Given the description of an element on the screen output the (x, y) to click on. 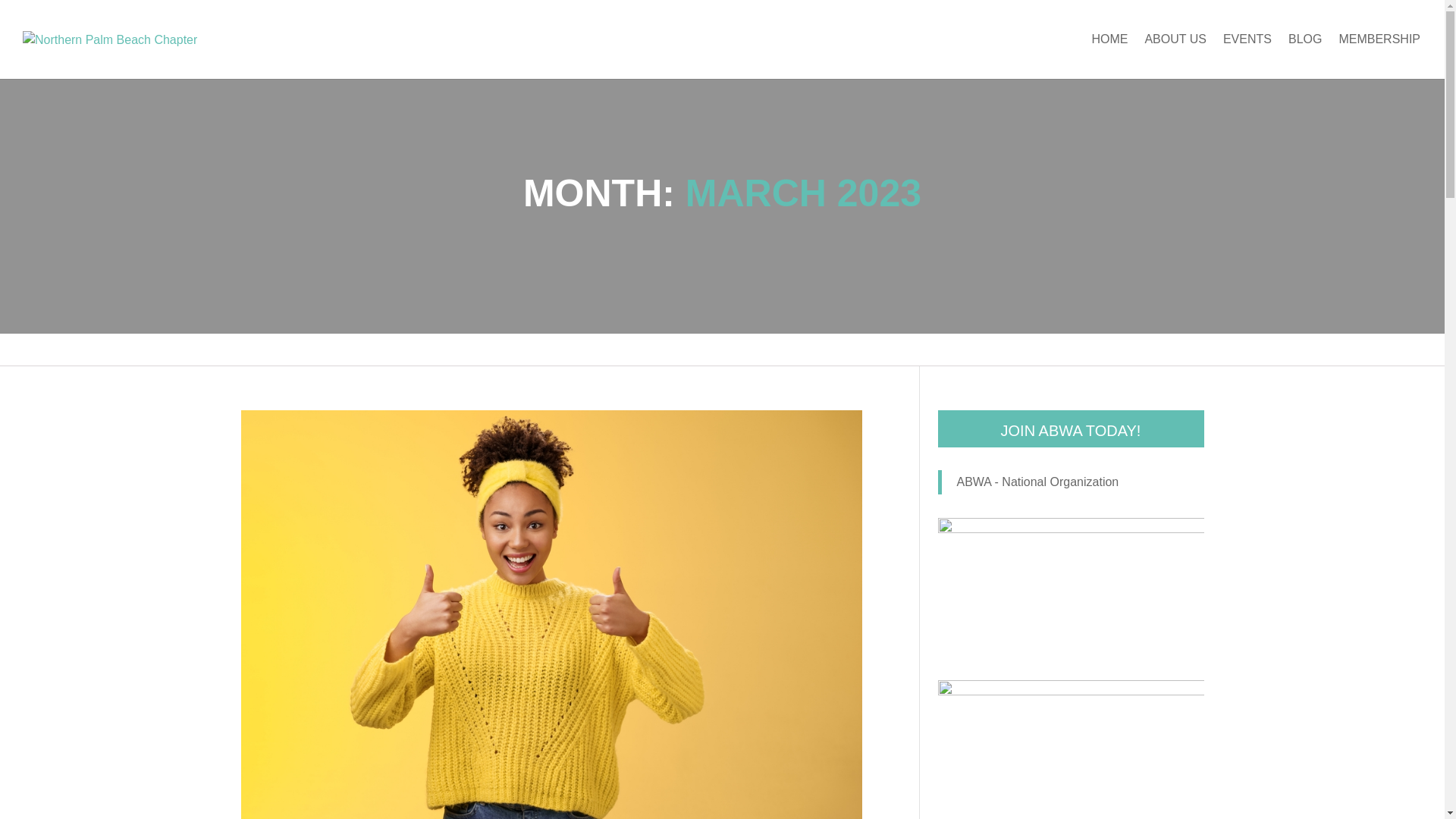
ABOUT US (1175, 56)
EVENTS (1247, 56)
JOIN ABWA TODAY! (1070, 428)
MEMBERSHIP (1379, 56)
ABWA - National Organization (1037, 481)
